Given the description of an element on the screen output the (x, y) to click on. 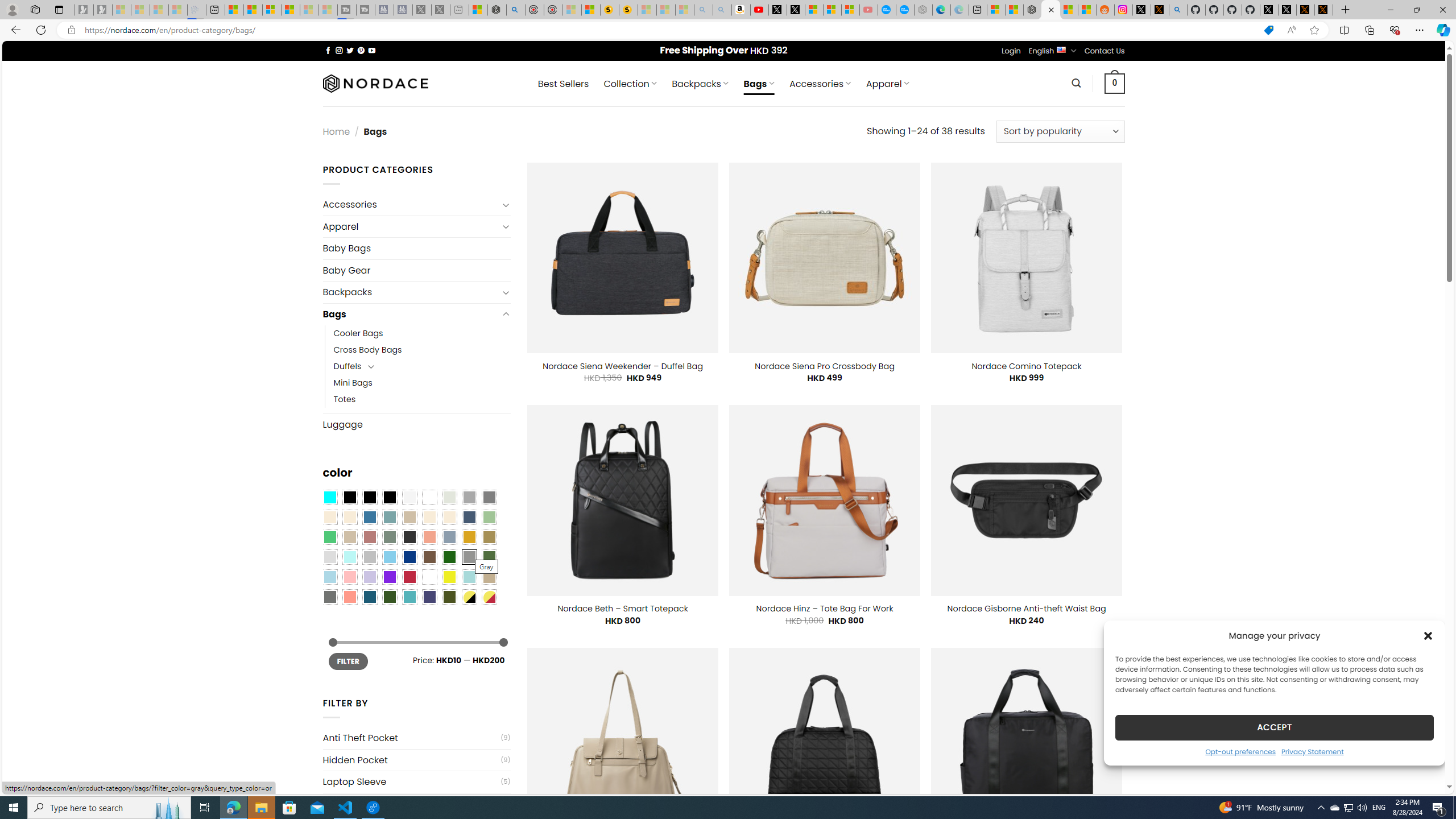
Aqua Blue (329, 497)
Hidden Pocket(9) (416, 759)
Yellow-Black (468, 596)
Opinion: Op-Ed and Commentary - USA TODAY (887, 9)
Gray (468, 557)
amazon - Search - Sleeping (702, 9)
Sky Blue (389, 557)
Hale Navy (468, 517)
